Given the description of an element on the screen output the (x, y) to click on. 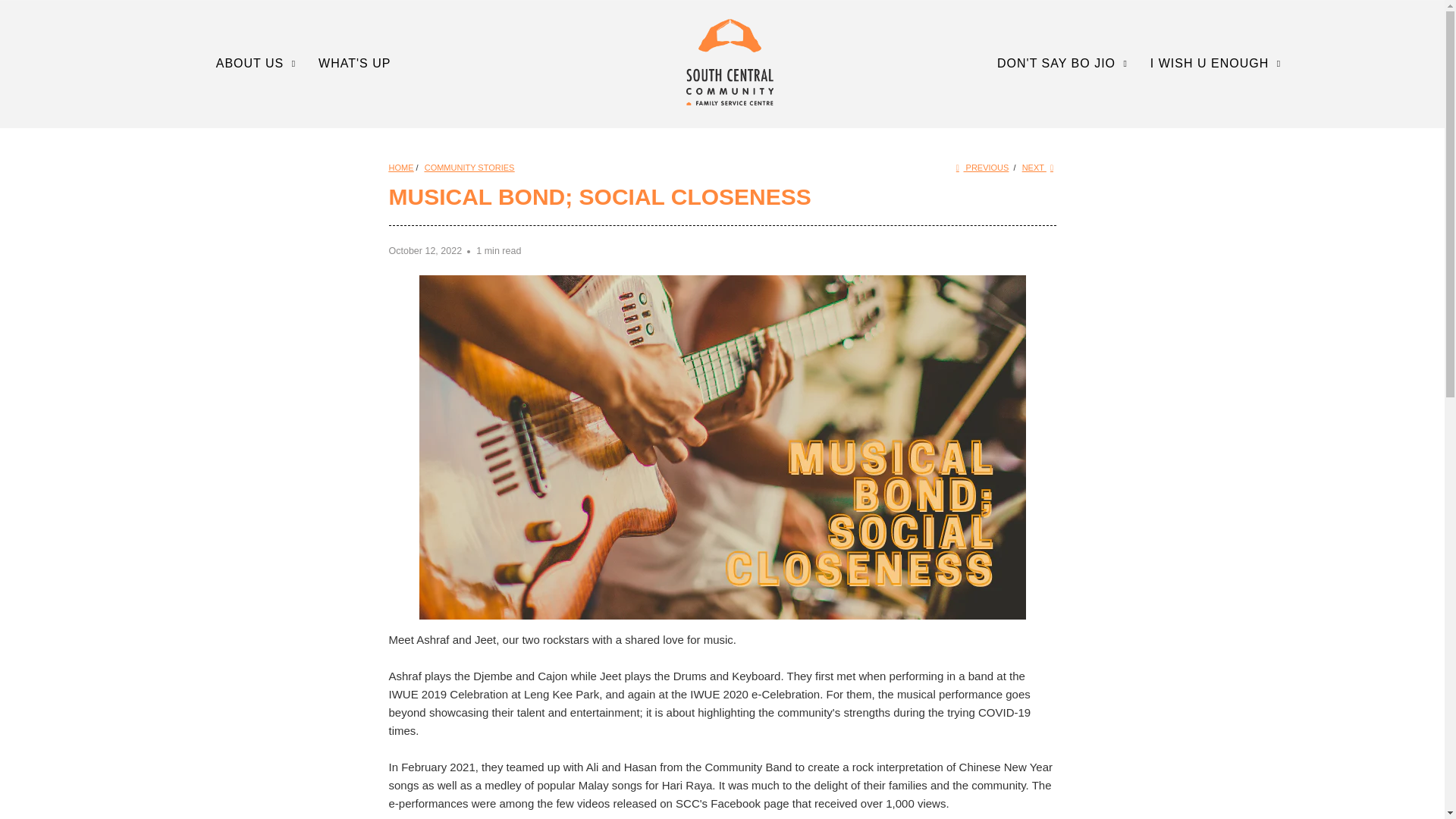
ABOUT US (257, 63)
South Central Community Family Service Centre (400, 166)
Community Stories (470, 166)
South Central Community Family Service Centre (729, 62)
